Given the description of an element on the screen output the (x, y) to click on. 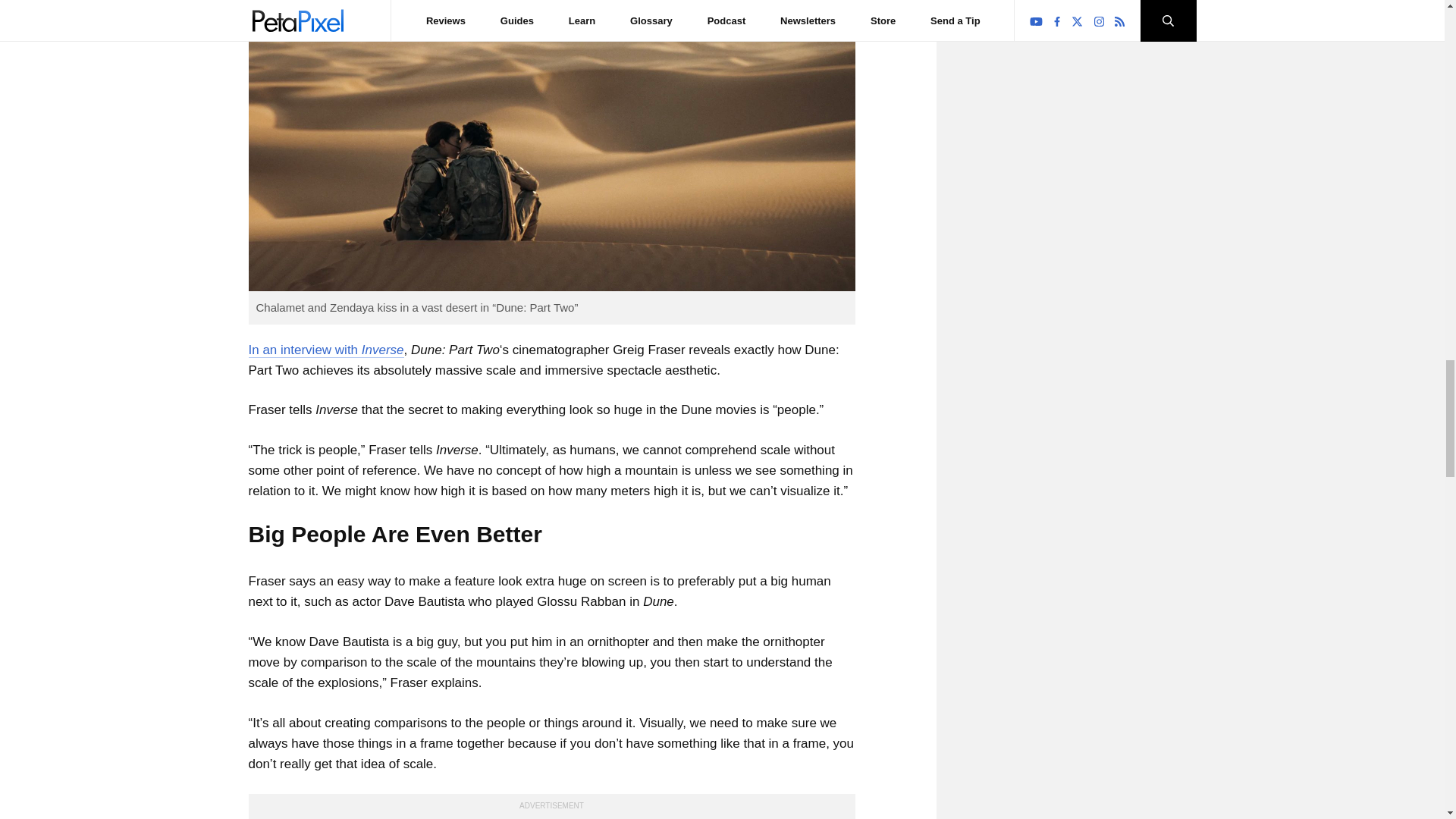
In an interview with Inverse (326, 350)
